Given the description of an element on the screen output the (x, y) to click on. 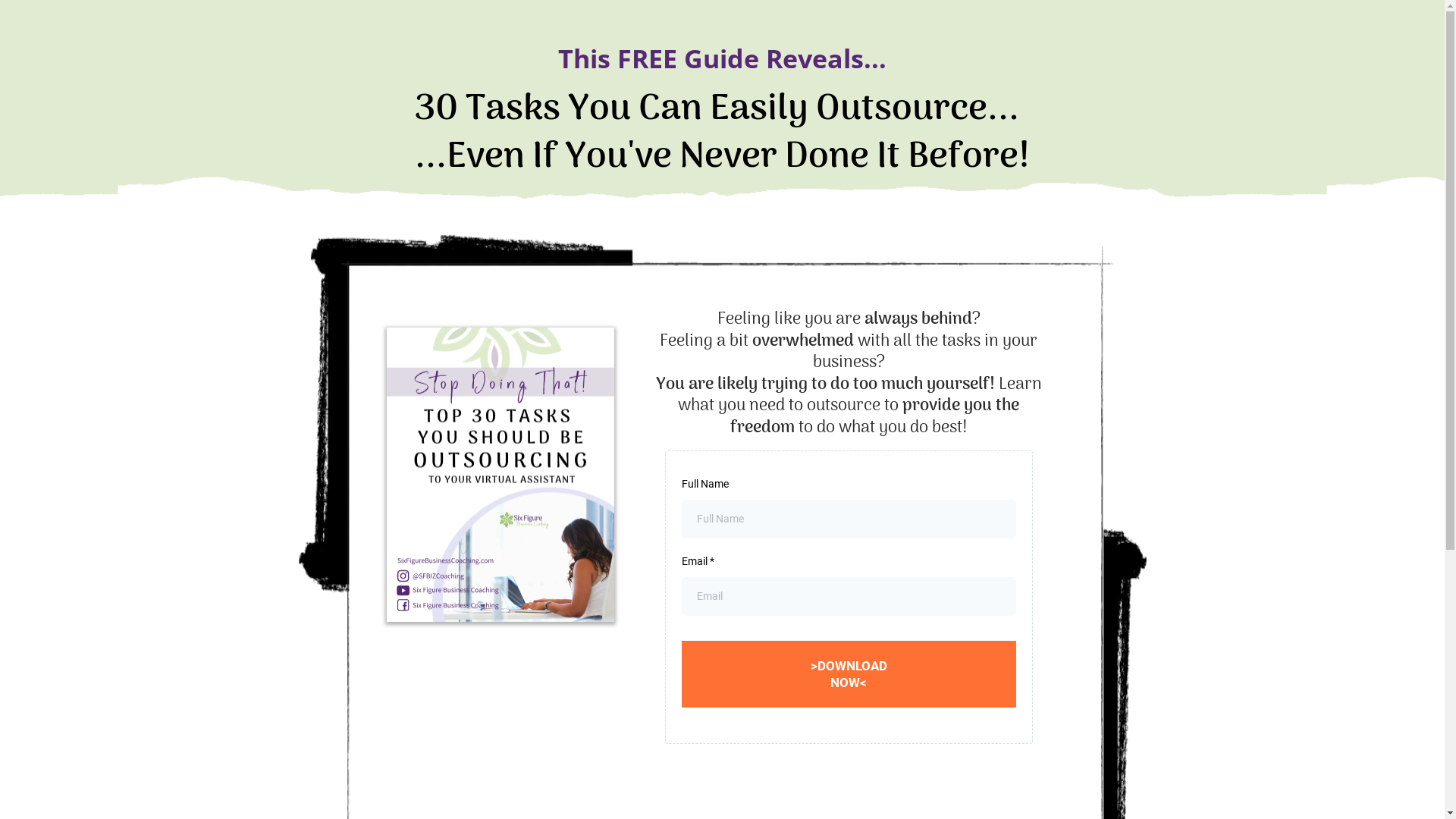
>DOWNLOAD NOW< Element type: text (848, 673)
